Given the description of an element on the screen output the (x, y) to click on. 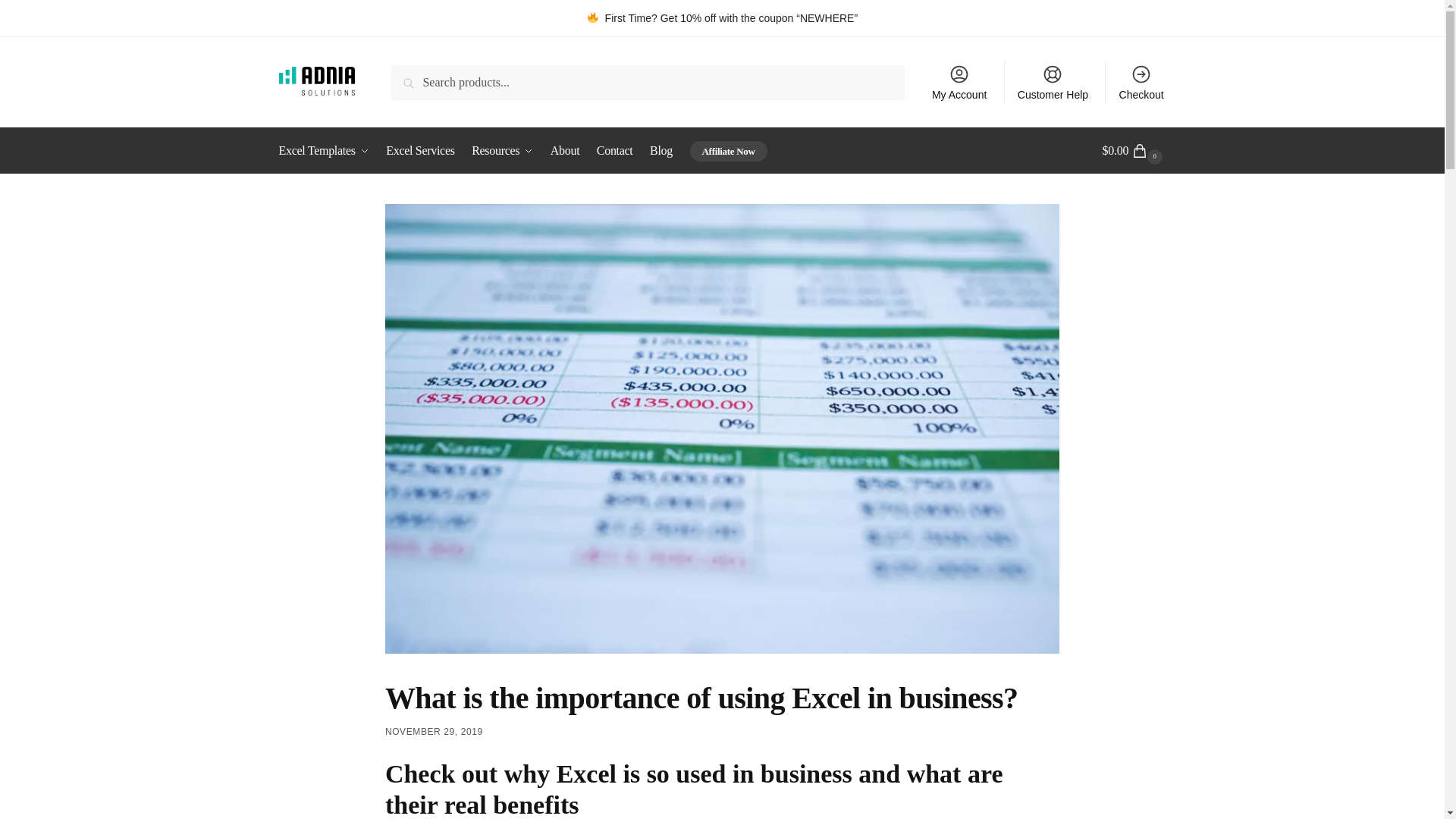
Customer Help (1053, 81)
Contact (614, 150)
Resources (502, 150)
Excel Templates (327, 150)
View your shopping cart (1134, 150)
Checkout (1141, 81)
My Account (959, 81)
Affiliate Now (728, 150)
About (564, 150)
Excel Services (419, 150)
Search (412, 75)
